Given the description of an element on the screen output the (x, y) to click on. 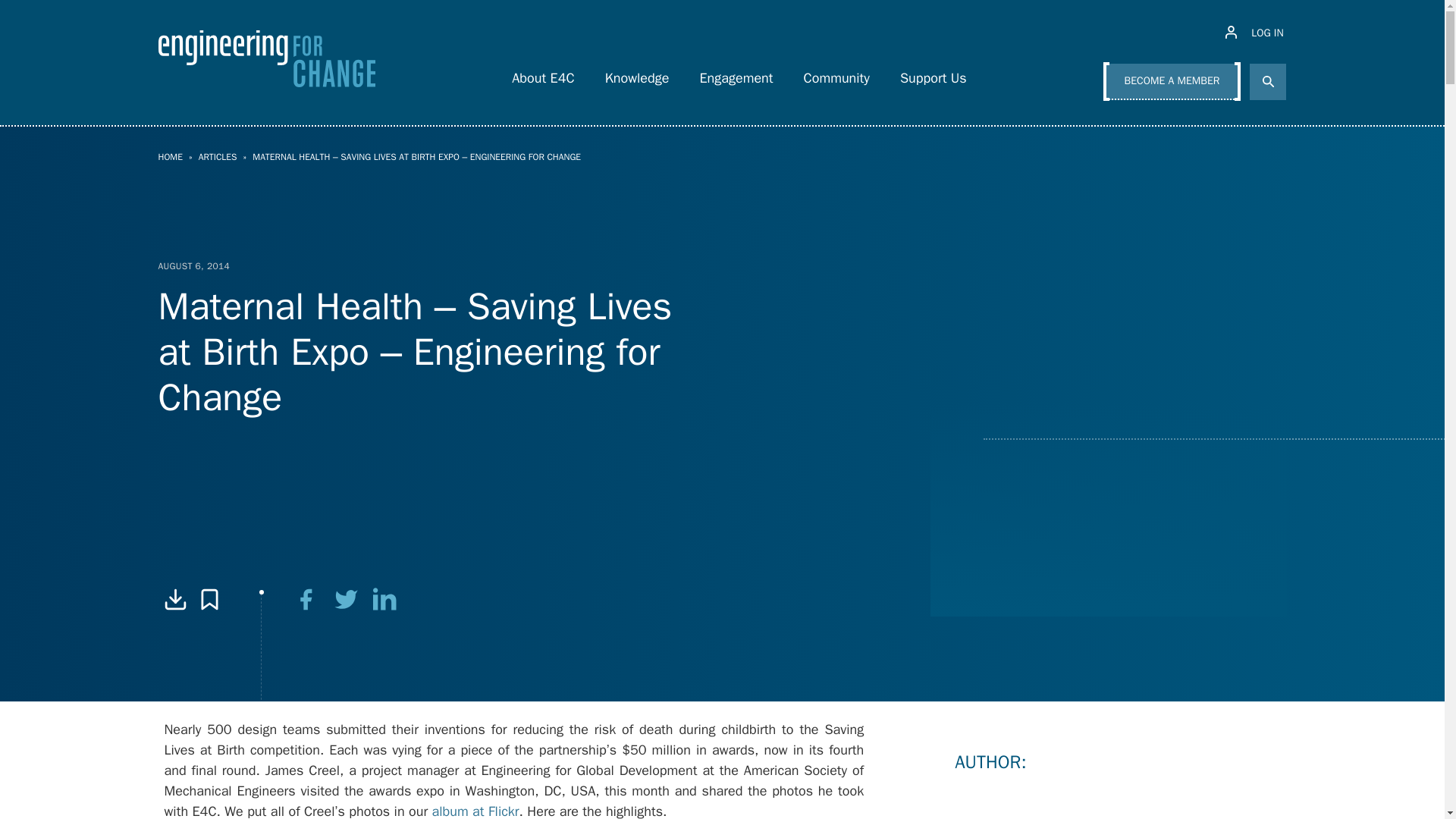
Support Us (933, 73)
twitter (345, 598)
facebook (306, 598)
Log in to bookmark (209, 599)
Engagement (735, 73)
HOME (169, 156)
linkedin (384, 598)
BECOME A MEMBER (1172, 81)
LOG IN (1255, 33)
Download (174, 599)
Community (837, 73)
Knowledge (636, 73)
About E4C (542, 73)
